Given the description of an element on the screen output the (x, y) to click on. 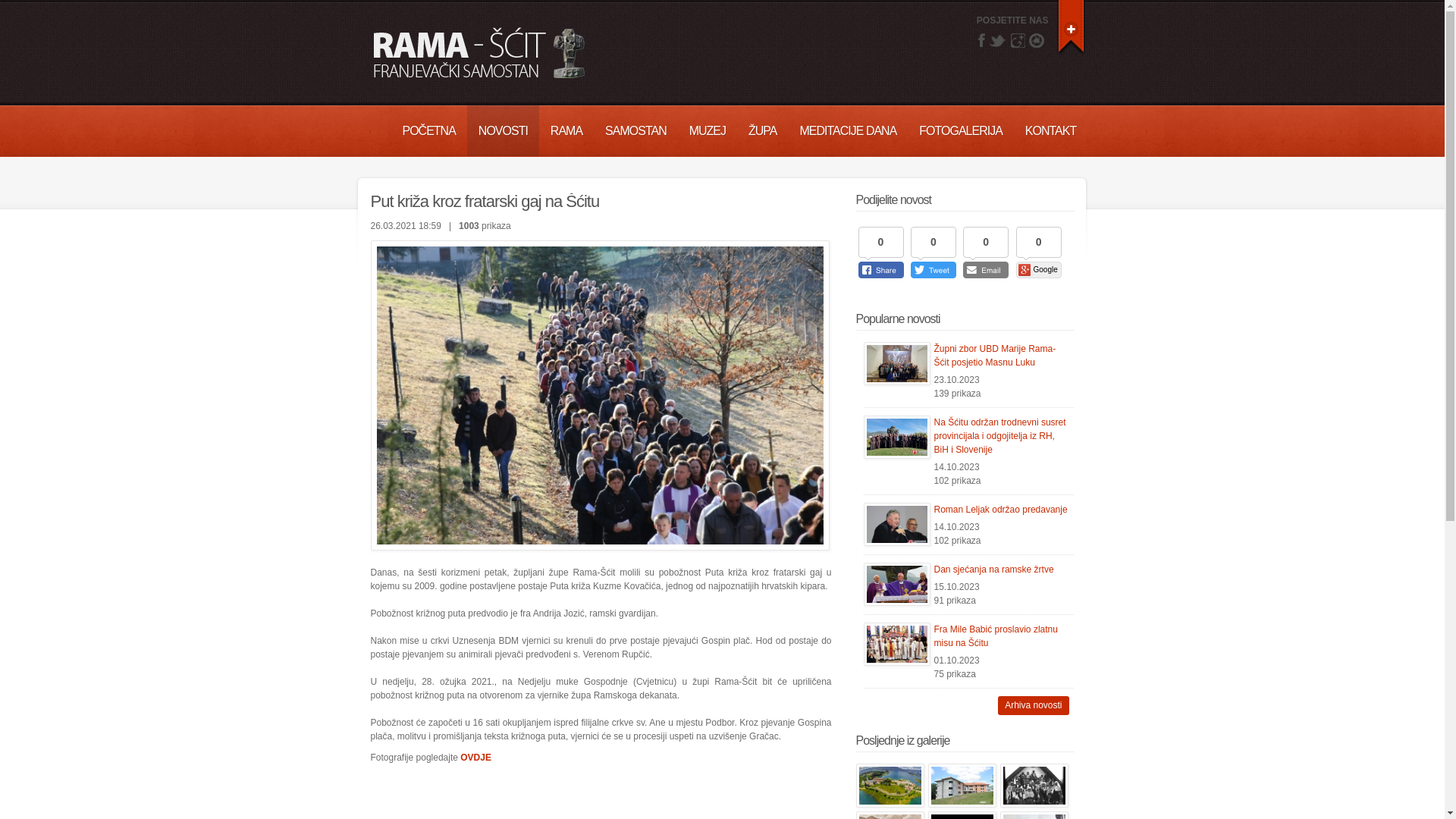
NOVOSTI Element type: text (503, 130)
Twitter Element type: hover (997, 39)
+ Element type: text (1070, 26)
RAMA Element type: text (566, 130)
Picasa Web Albums Element type: hover (1036, 39)
MUZEJ Element type: text (707, 130)
Google Plus Element type: hover (1018, 39)
Facebook Element type: hover (981, 39)
FOTOGALERIJA Element type: text (960, 130)
MEDITACIJE DANA Element type: text (848, 130)
KONTAKT Element type: text (1050, 130)
OVDJE Element type: text (475, 757)
Arhiva novosti Element type: text (1032, 705)
SAMOSTAN Element type: text (635, 130)
